Given the description of an element on the screen output the (x, y) to click on. 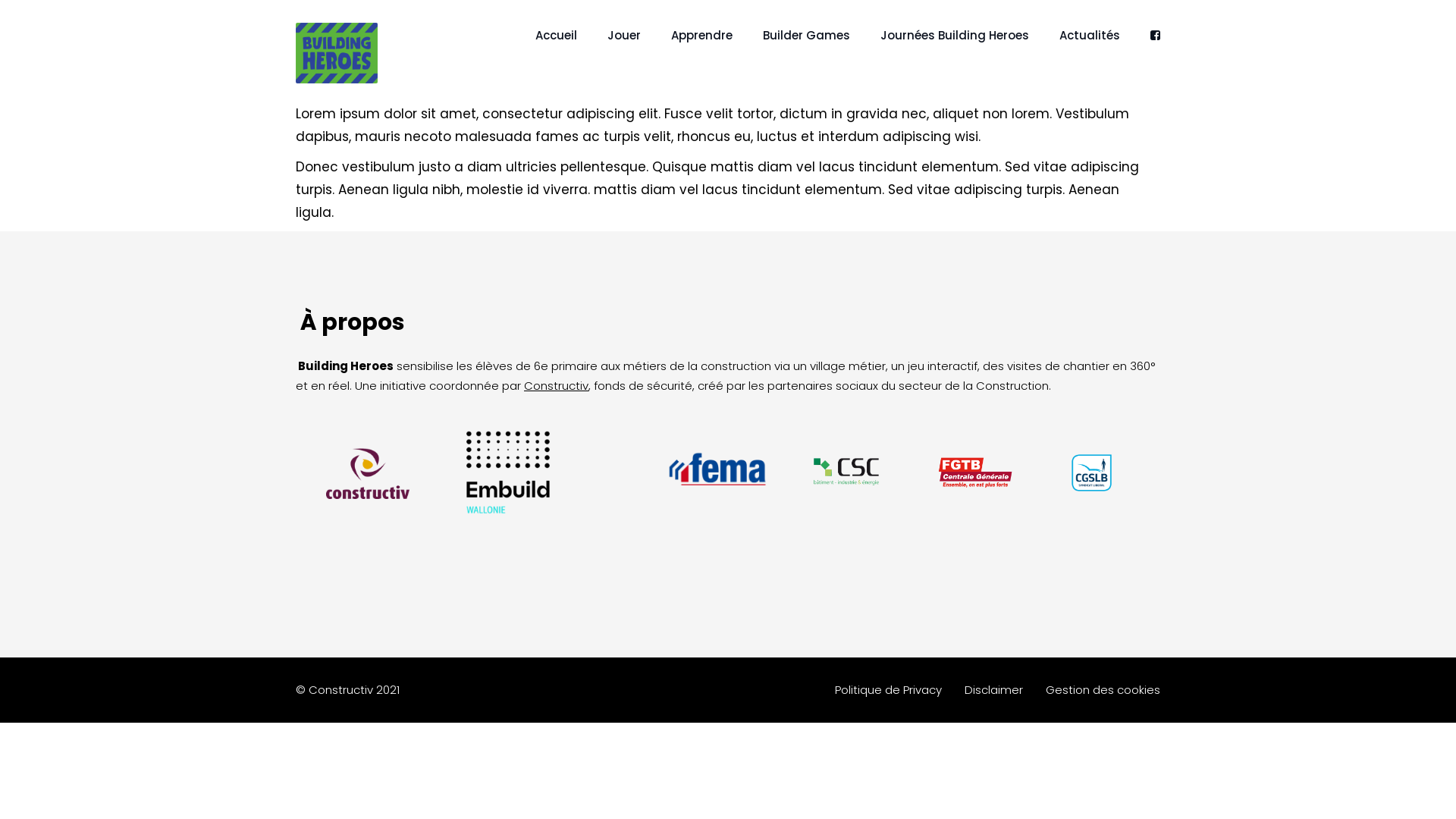
Disclaimer Element type: text (993, 688)
Apprendre Element type: text (701, 39)
Gestion des cookies Element type: text (1102, 688)
Jouer Element type: text (623, 39)
Builder Games Element type: text (806, 39)
Accueil Element type: text (556, 39)
Politique de Privacy Element type: text (887, 688)
Constructiv Element type: text (556, 385)
